Given the description of an element on the screen output the (x, y) to click on. 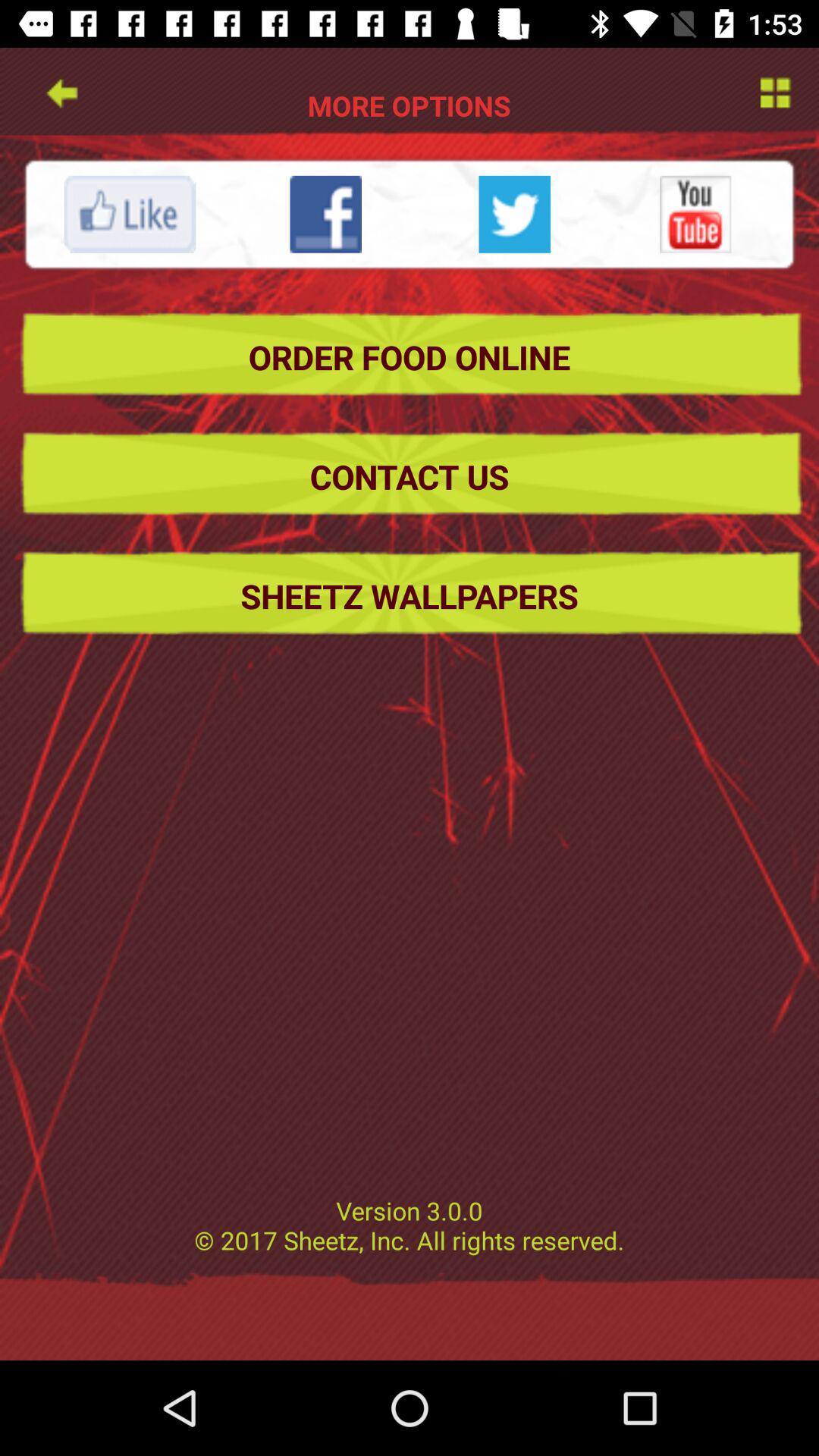
share to twitter (514, 214)
